Given the description of an element on the screen output the (x, y) to click on. 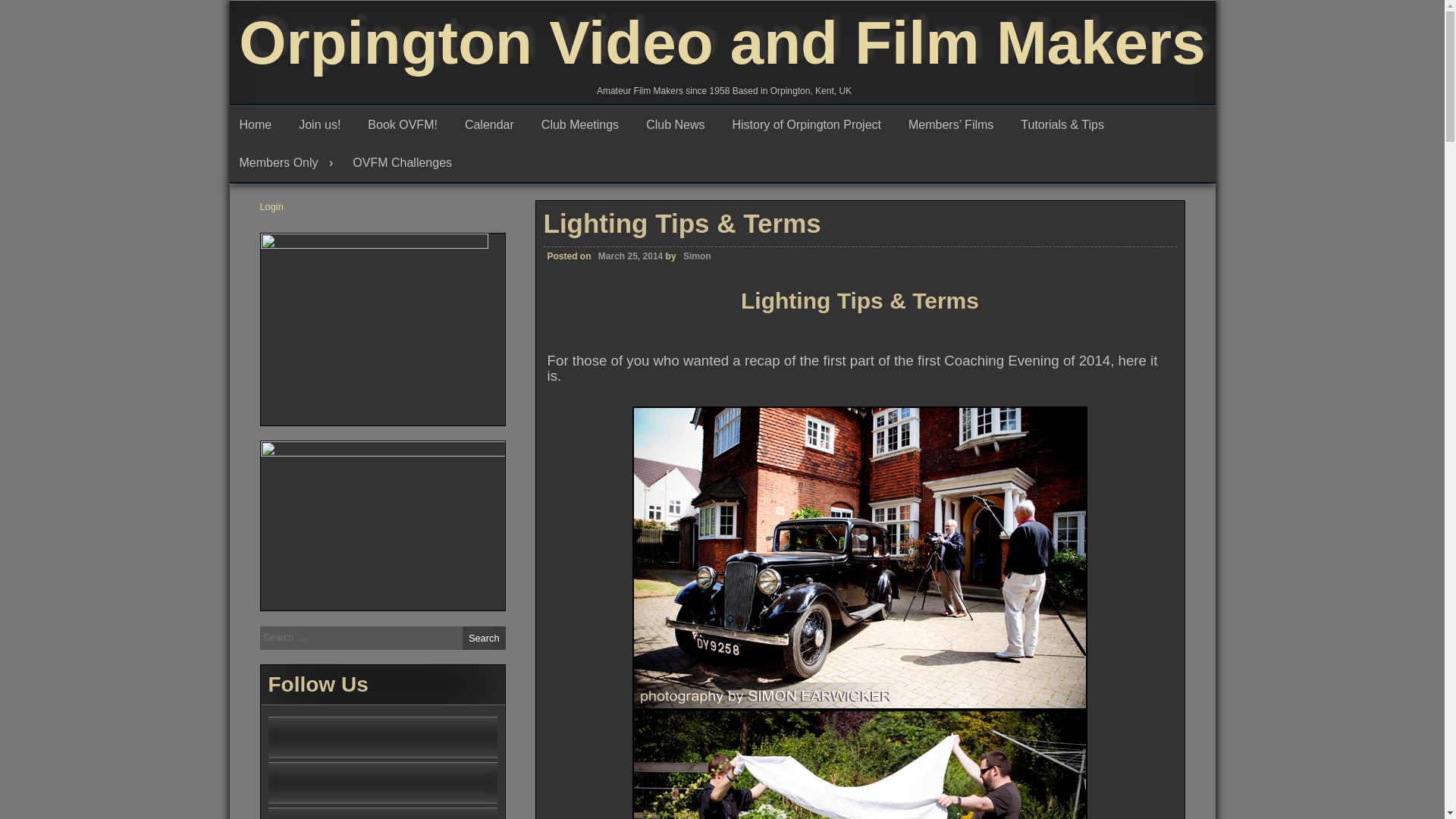
OVFM Challenges (405, 162)
Search (484, 638)
Club Meetings (583, 125)
Calendar (492, 125)
Search (484, 638)
Home (258, 125)
Join us! (323, 125)
March 25, 2014 (628, 255)
History of Orpington Project (810, 125)
Login (270, 206)
